Given the description of an element on the screen output the (x, y) to click on. 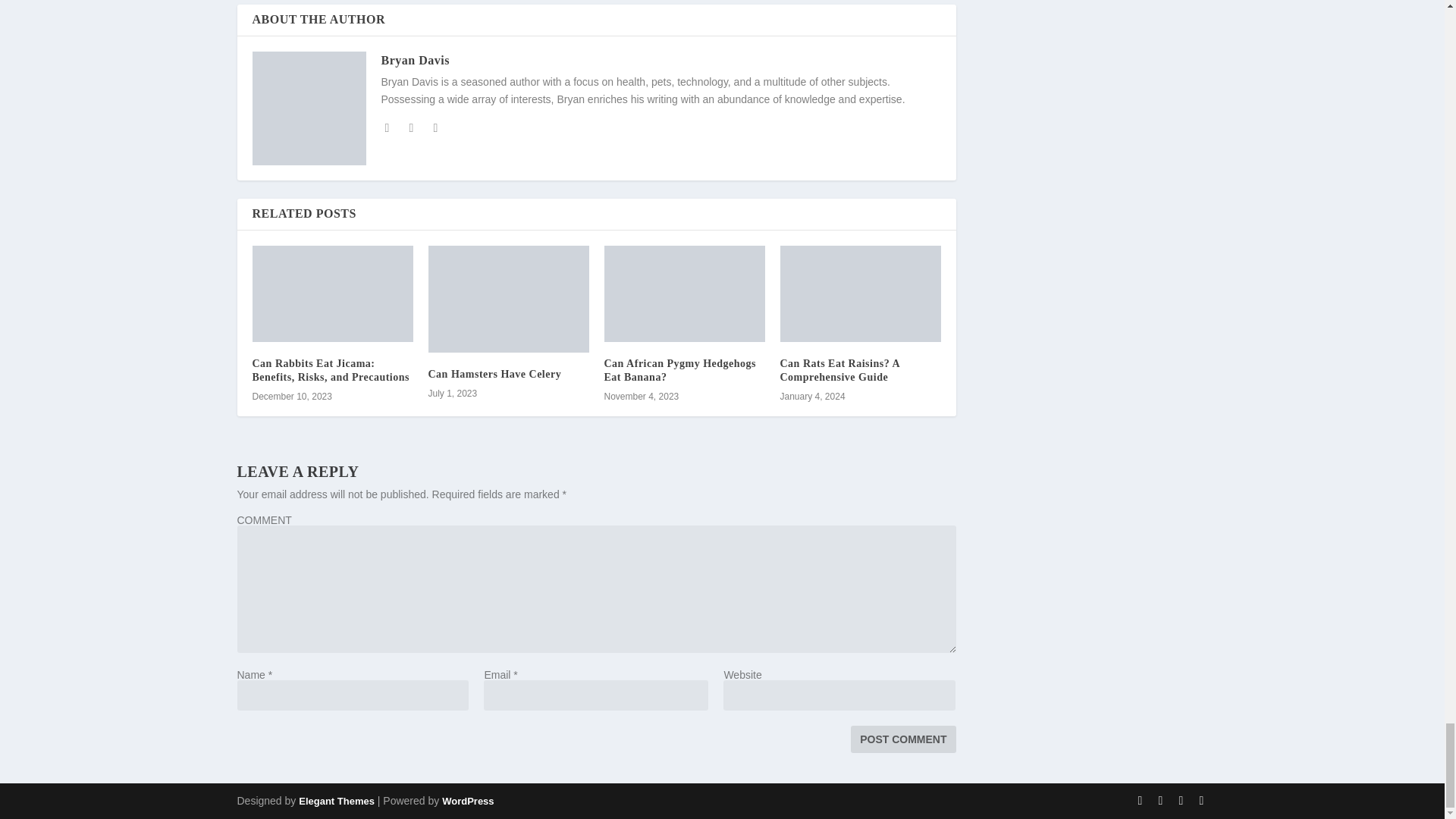
Post Comment (902, 738)
